Given the description of an element on the screen output the (x, y) to click on. 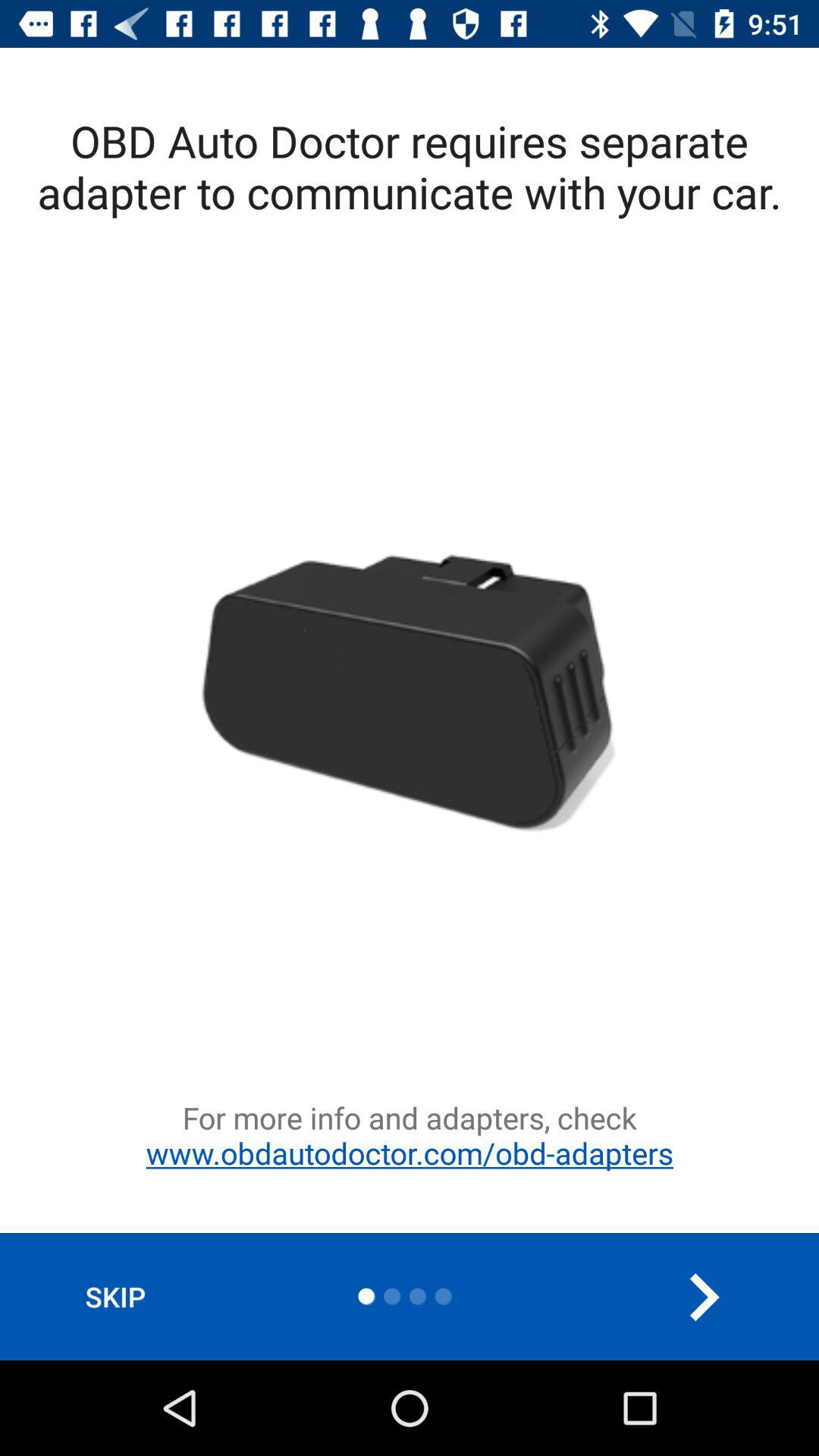
choose item below for more info (114, 1296)
